Given the description of an element on the screen output the (x, y) to click on. 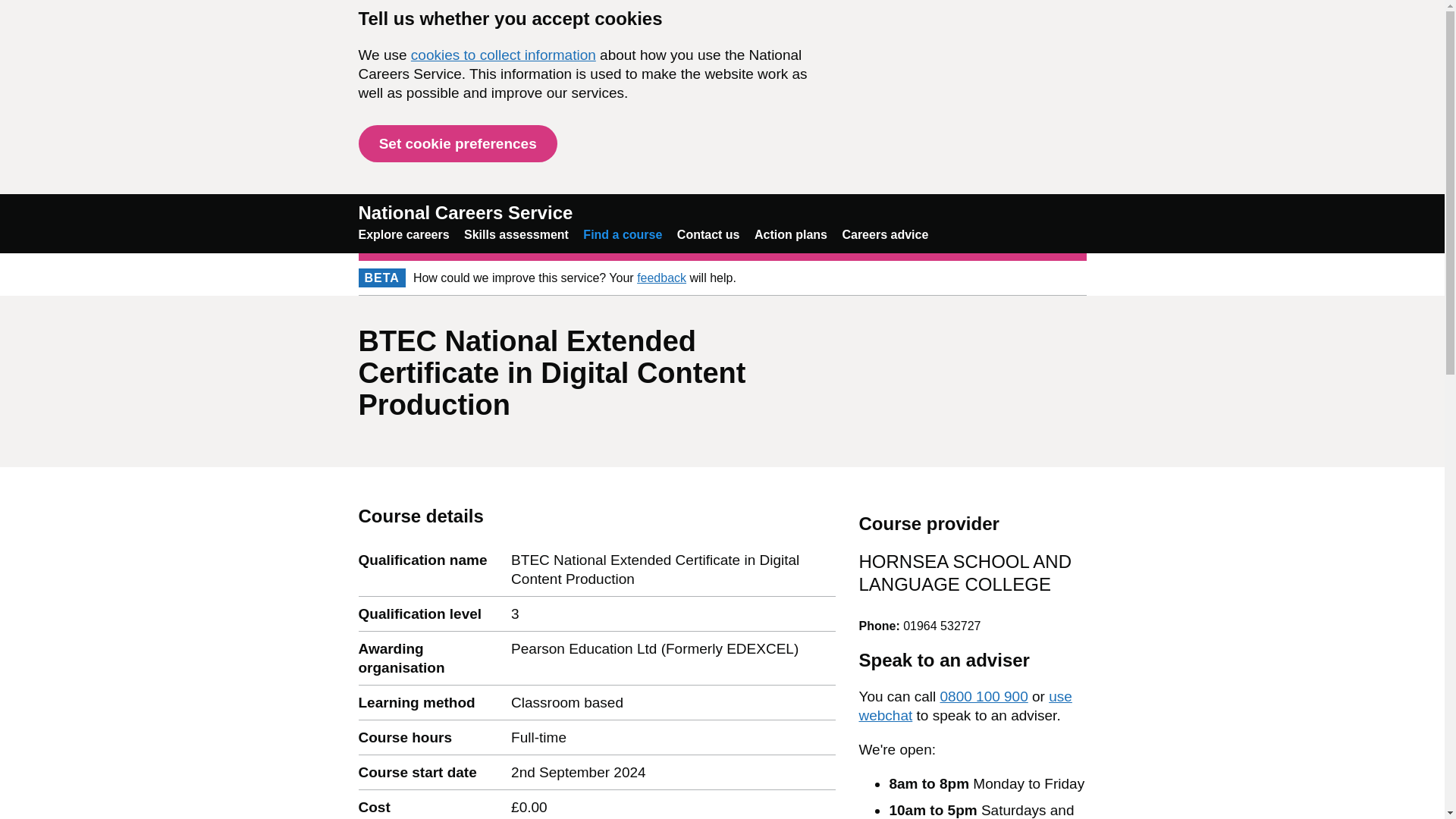
Explore careers (403, 234)
0800 100 900 (983, 696)
National Careers Service (465, 212)
feedback (661, 277)
Contact us (708, 234)
use webchat (965, 705)
Skip to main content (11, 7)
cookies to collect information (502, 54)
Skills assessment (516, 234)
Action plans (790, 234)
Careers advice (884, 234)
Find a course (622, 234)
Set cookie preferences (457, 143)
